Given the description of an element on the screen output the (x, y) to click on. 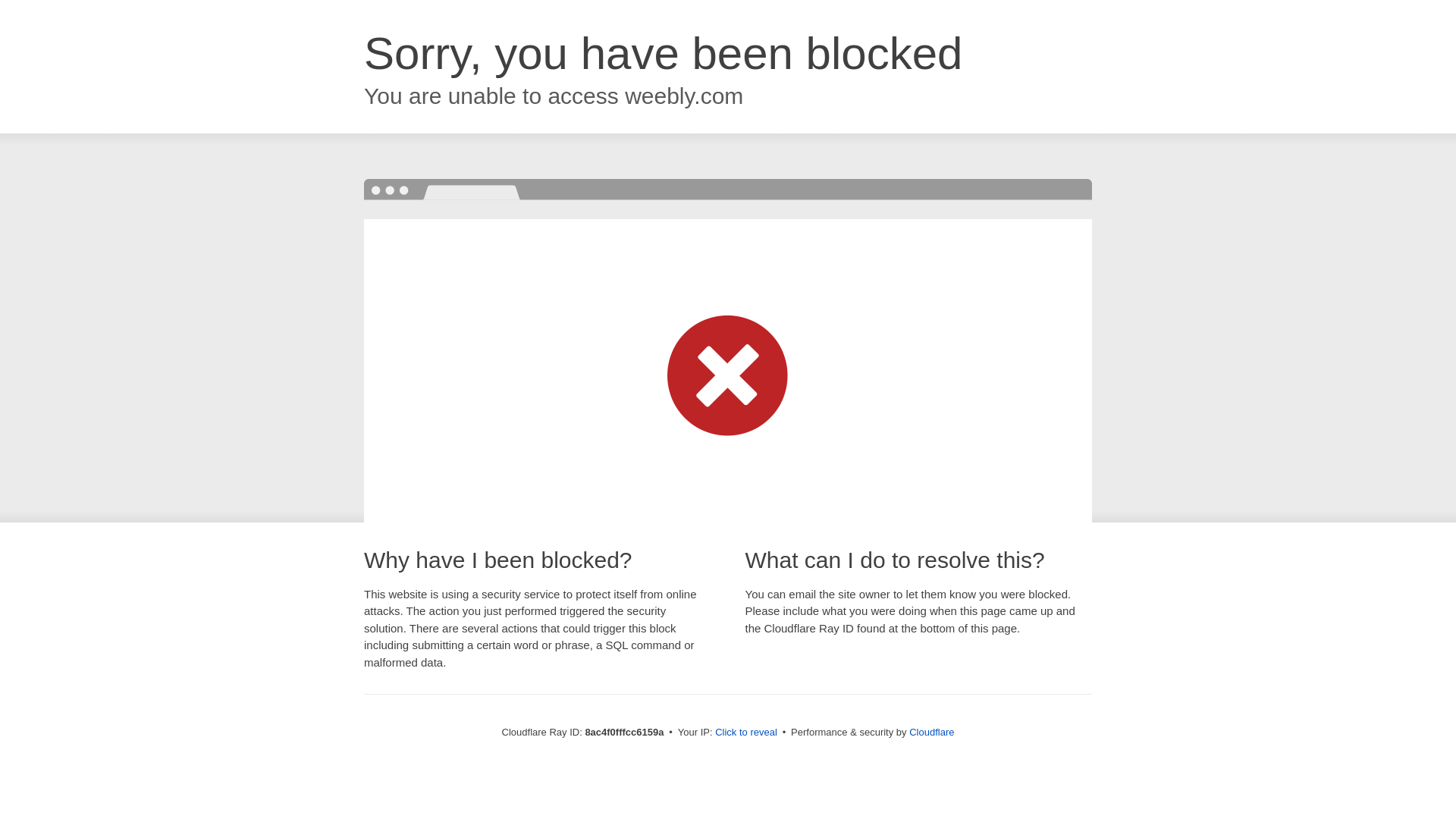
Click to reveal (745, 732)
Cloudflare (930, 731)
